Given the description of an element on the screen output the (x, y) to click on. 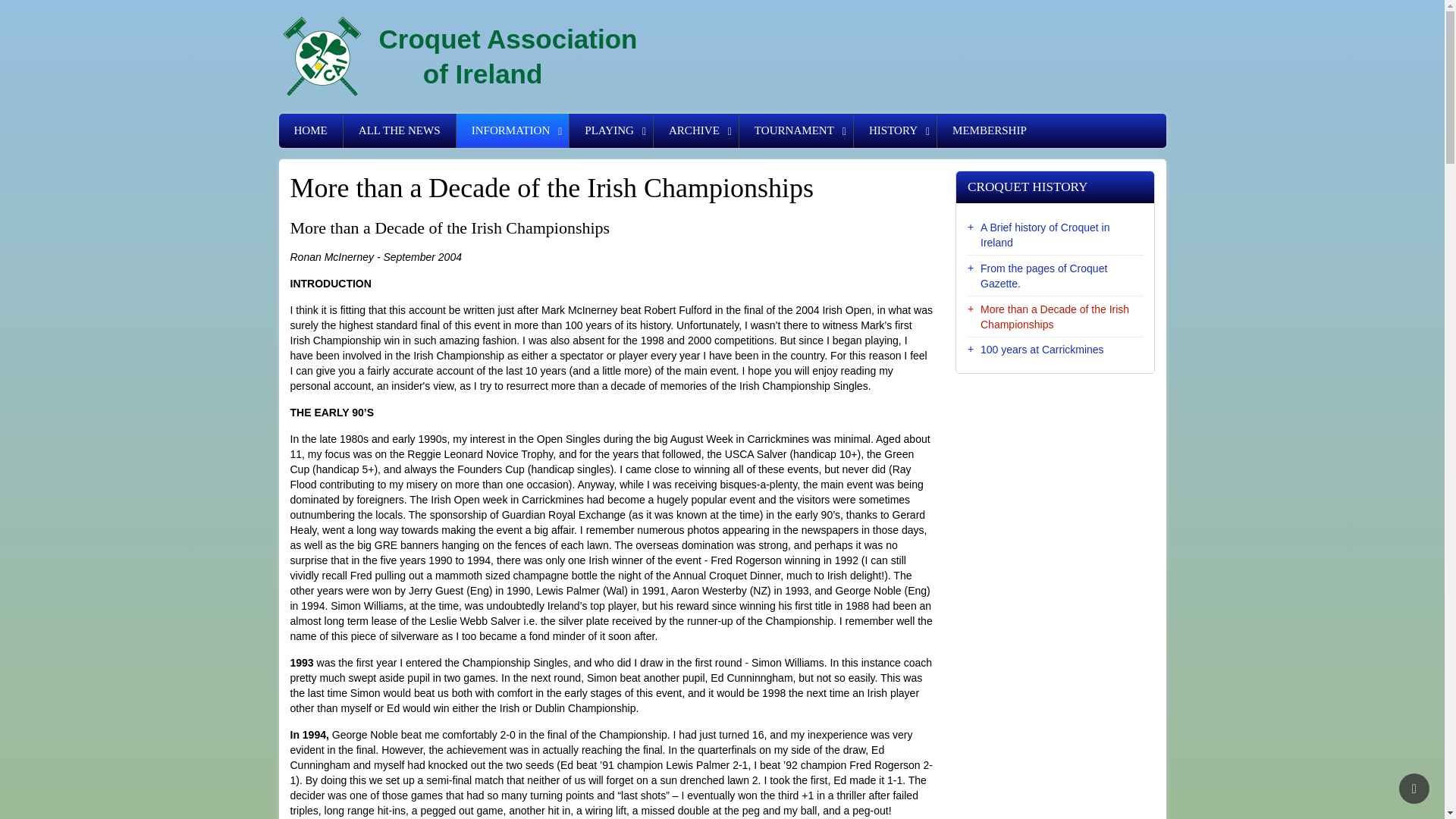
HOME (310, 130)
Home (507, 58)
PLAYING (322, 56)
ALL THE NEWS (610, 130)
Archiveof all previous years (399, 130)
ARCHIVE (695, 130)
INFORMATION (695, 130)
Skip to main content (513, 130)
